Given the description of an element on the screen output the (x, y) to click on. 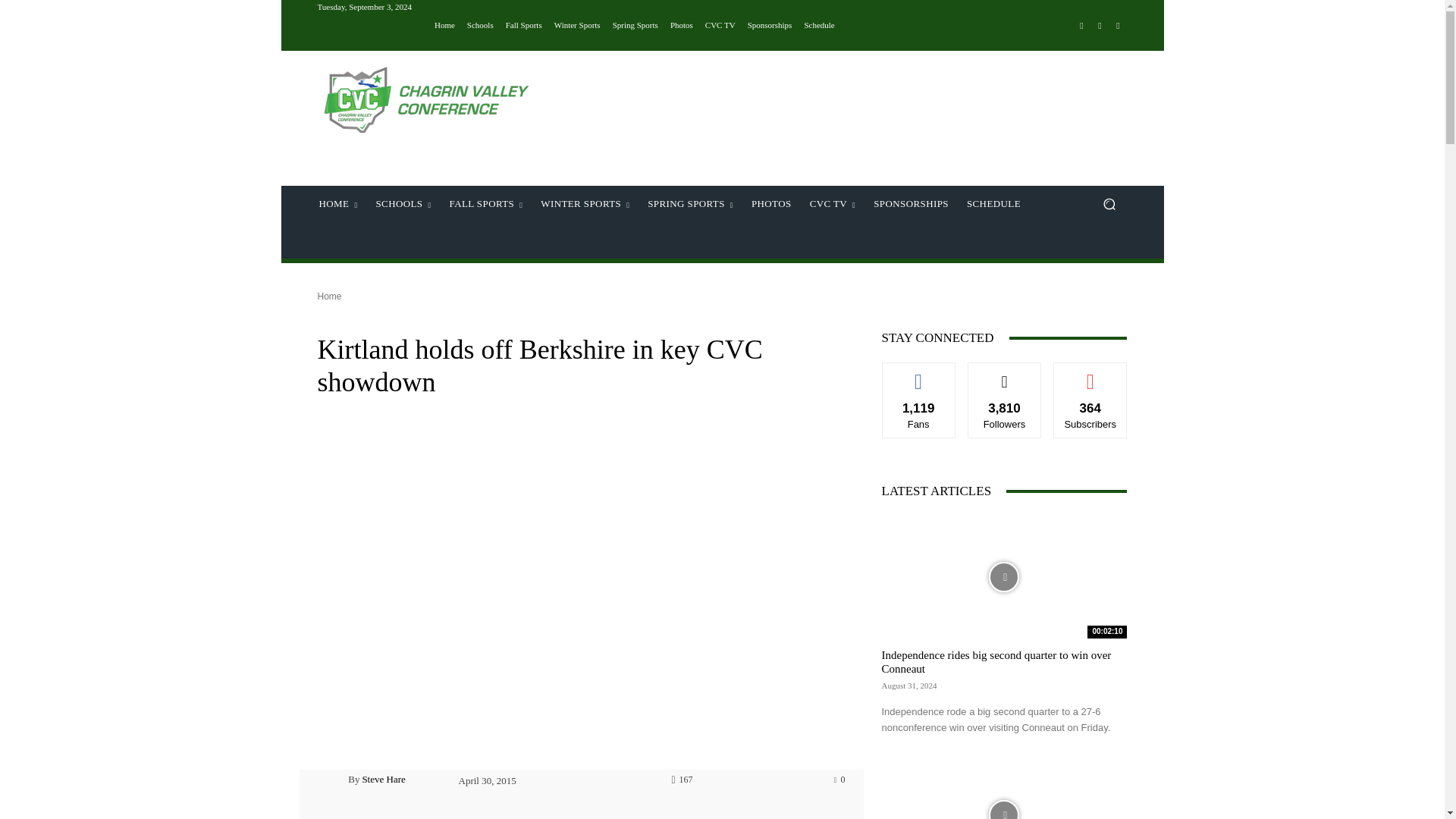
Twitter (1117, 25)
Facebook (1080, 25)
Instagram (1099, 25)
